Given the description of an element on the screen output the (x, y) to click on. 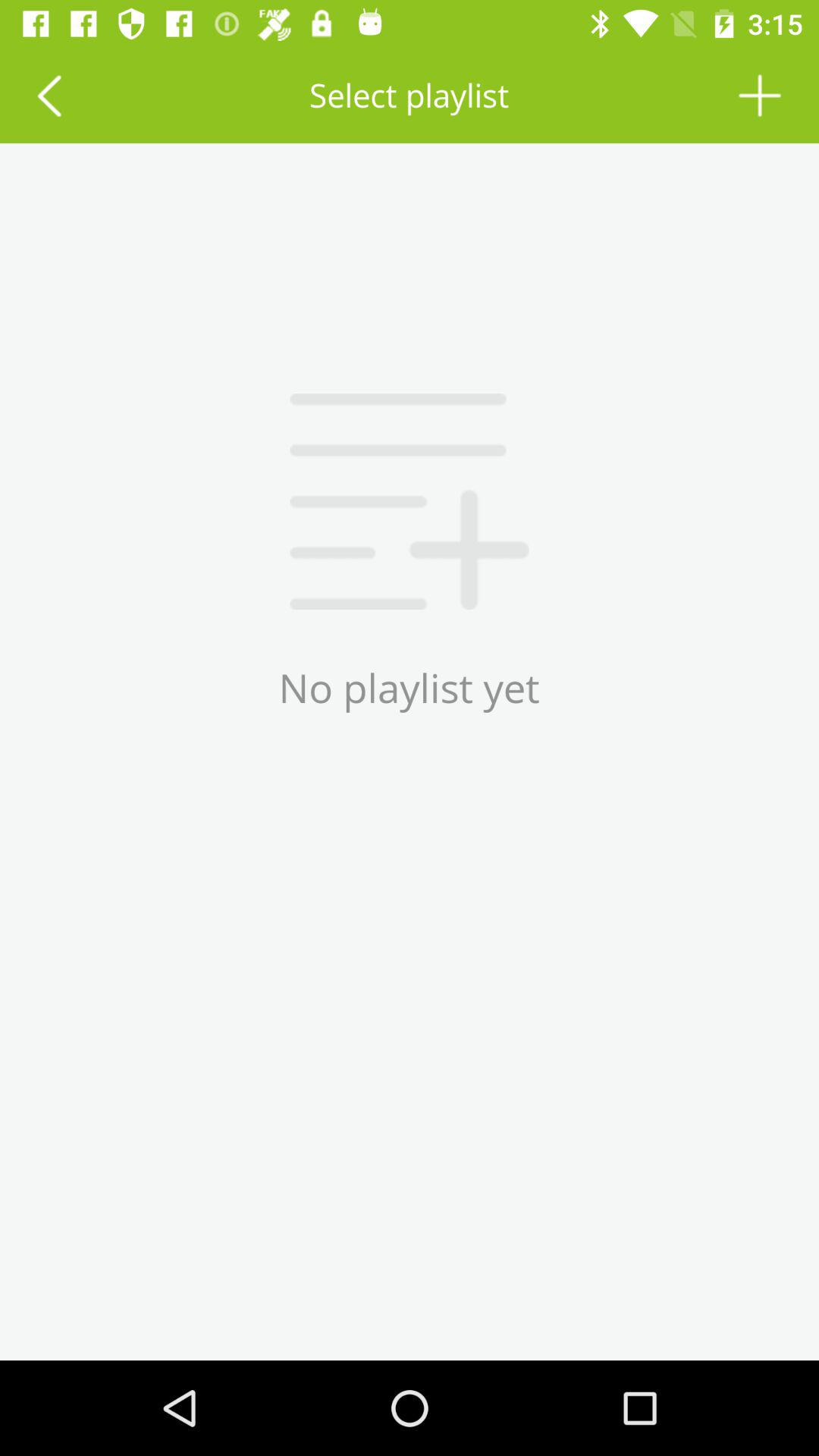
turn off the item to the right of select playlist icon (759, 95)
